Given the description of an element on the screen output the (x, y) to click on. 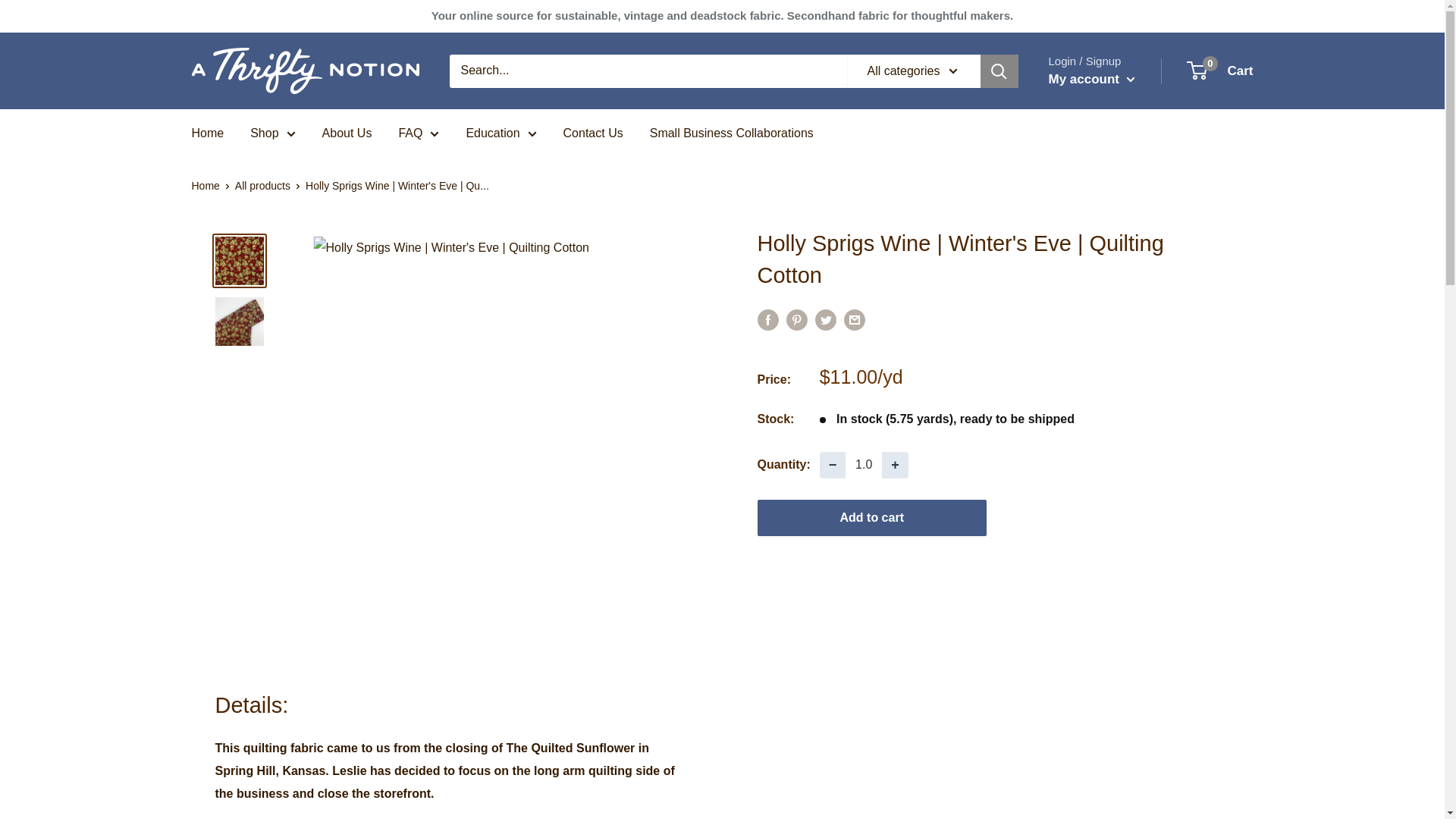
Increase Quantity (895, 465)
A Thrifty Notion (304, 70)
1.0 (863, 465)
Decrease Quantity (832, 465)
